Given the description of an element on the screen output the (x, y) to click on. 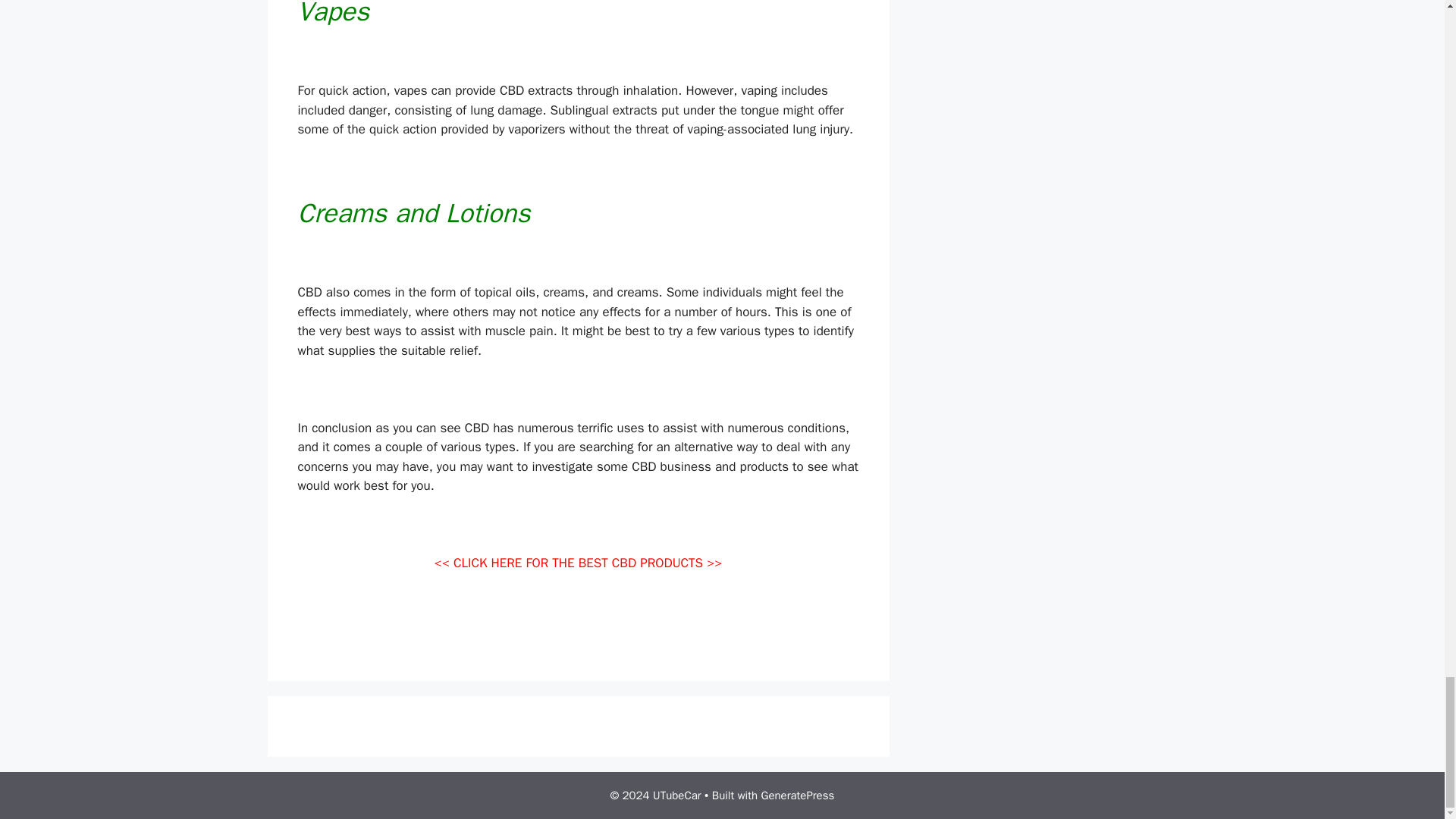
melania trump and cbd business (531, 640)
GeneratePress (797, 795)
sunny cbd melania trump (368, 640)
